Given the description of an element on the screen output the (x, y) to click on. 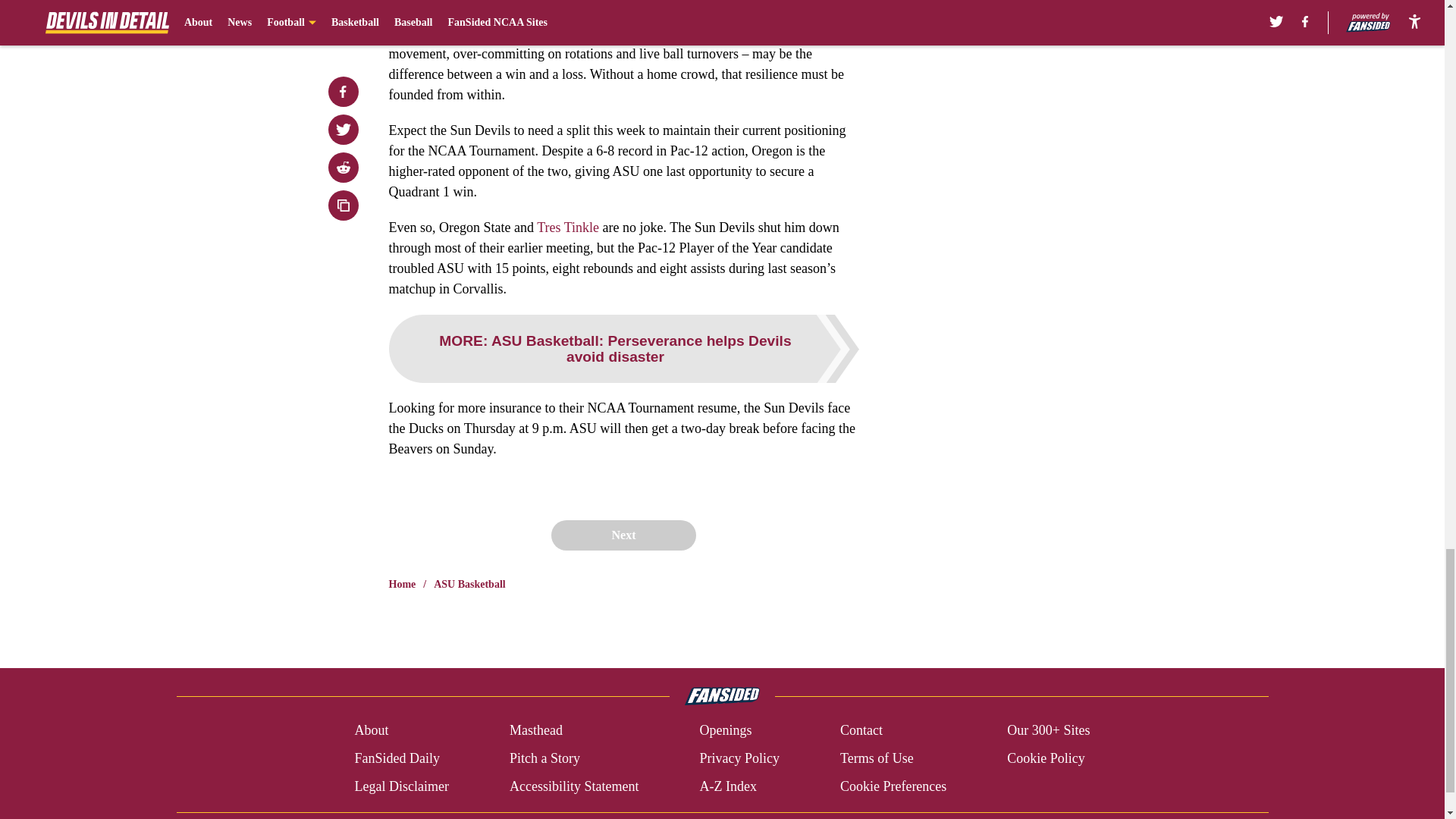
Pitch a Story (544, 758)
Home (401, 584)
ASU Basketball (469, 584)
Terms of Use (877, 758)
Contact (861, 730)
Privacy Policy (738, 758)
FanSided Daily (396, 758)
Openings (724, 730)
About (370, 730)
